Given the description of an element on the screen output the (x, y) to click on. 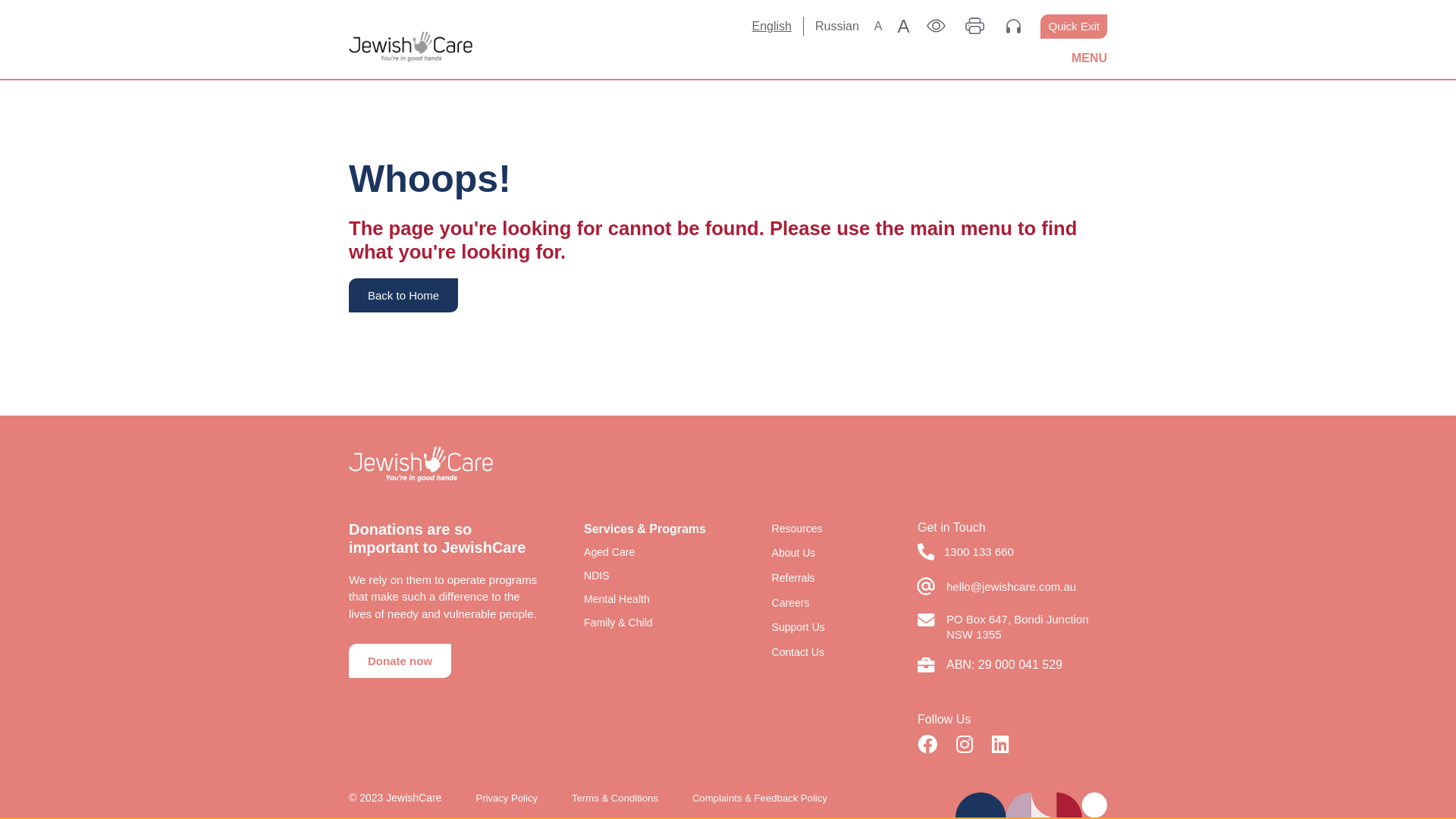
Family & Child Element type: text (617, 622)
1300 133 660 Element type: text (978, 551)
Resources Element type: text (796, 528)
Support Us Element type: text (798, 627)
Contact Us Element type: text (798, 652)
NDIS Element type: text (596, 575)
Back to Home Element type: text (403, 295)
Mental Health Element type: text (616, 599)
hello@jewishcare.com.au Element type: text (1011, 586)
Complaints & Feedback Policy Element type: text (759, 797)
Donate now Element type: text (399, 660)
Quick Exit Element type: text (1073, 25)
Services & Programs Element type: text (644, 528)
Aged Care Element type: text (608, 552)
Privacy Policy Element type: text (506, 797)
Referrals Element type: text (793, 577)
Terms & Conditions Element type: text (614, 797)
About Us Element type: text (793, 552)
Careers Element type: text (790, 602)
